Given the description of an element on the screen output the (x, y) to click on. 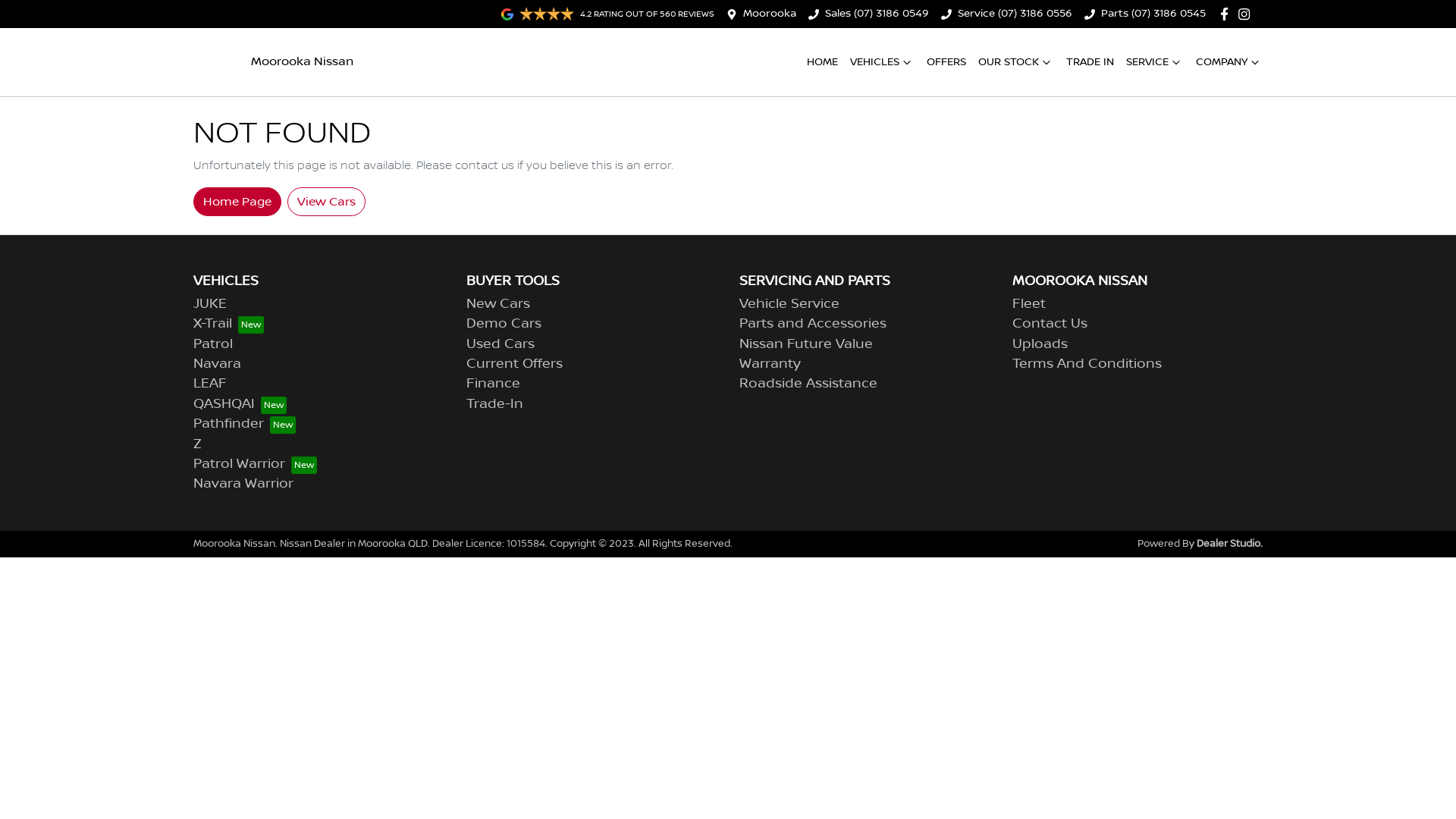
HOME Element type: text (821, 62)
VEHICLES Element type: text (882, 62)
Patrol Element type: text (212, 343)
Current Offers Element type: text (514, 363)
Pathfinder Element type: text (244, 423)
Moorooka Nissan Element type: text (273, 62)
Navara Warrior Element type: text (243, 483)
Trade-In Element type: text (494, 403)
COMPANY Element type: text (1228, 62)
QASHQAI Element type: text (239, 403)
Uploads Element type: text (1039, 343)
Demo Cars Element type: text (503, 323)
Nissan Future Value Element type: text (805, 343)
Z Element type: text (197, 444)
New Cars Element type: text (498, 303)
Roadside Assistance Element type: text (808, 383)
Parts and Accessories Element type: text (812, 323)
Moorooka Element type: text (769, 13)
Terms And Conditions Element type: text (1086, 363)
JUKE Element type: text (209, 303)
Fleet Element type: text (1028, 303)
Contact Us Element type: text (1049, 323)
Parts (07) 3186 0545 Element type: text (1153, 13)
Navara Element type: text (217, 363)
Dealer Studio. Element type: text (1229, 543)
Service (07) 3186 0556 Element type: text (1014, 13)
View Cars Element type: text (326, 200)
Used Cars Element type: text (500, 343)
OFFERS Element type: text (946, 62)
LEAF Element type: text (209, 383)
OUR STOCK Element type: text (1016, 62)
Warranty Element type: text (769, 363)
Finance Element type: text (493, 383)
X-Trail Element type: text (228, 323)
Vehicle Service Element type: text (789, 303)
Patrol Warrior Element type: text (254, 463)
Sales (07) 3186 0549 Element type: text (876, 13)
Home Page Element type: text (237, 200)
SERVICE Element type: text (1154, 62)
TRADE IN Element type: text (1089, 62)
